Given the description of an element on the screen output the (x, y) to click on. 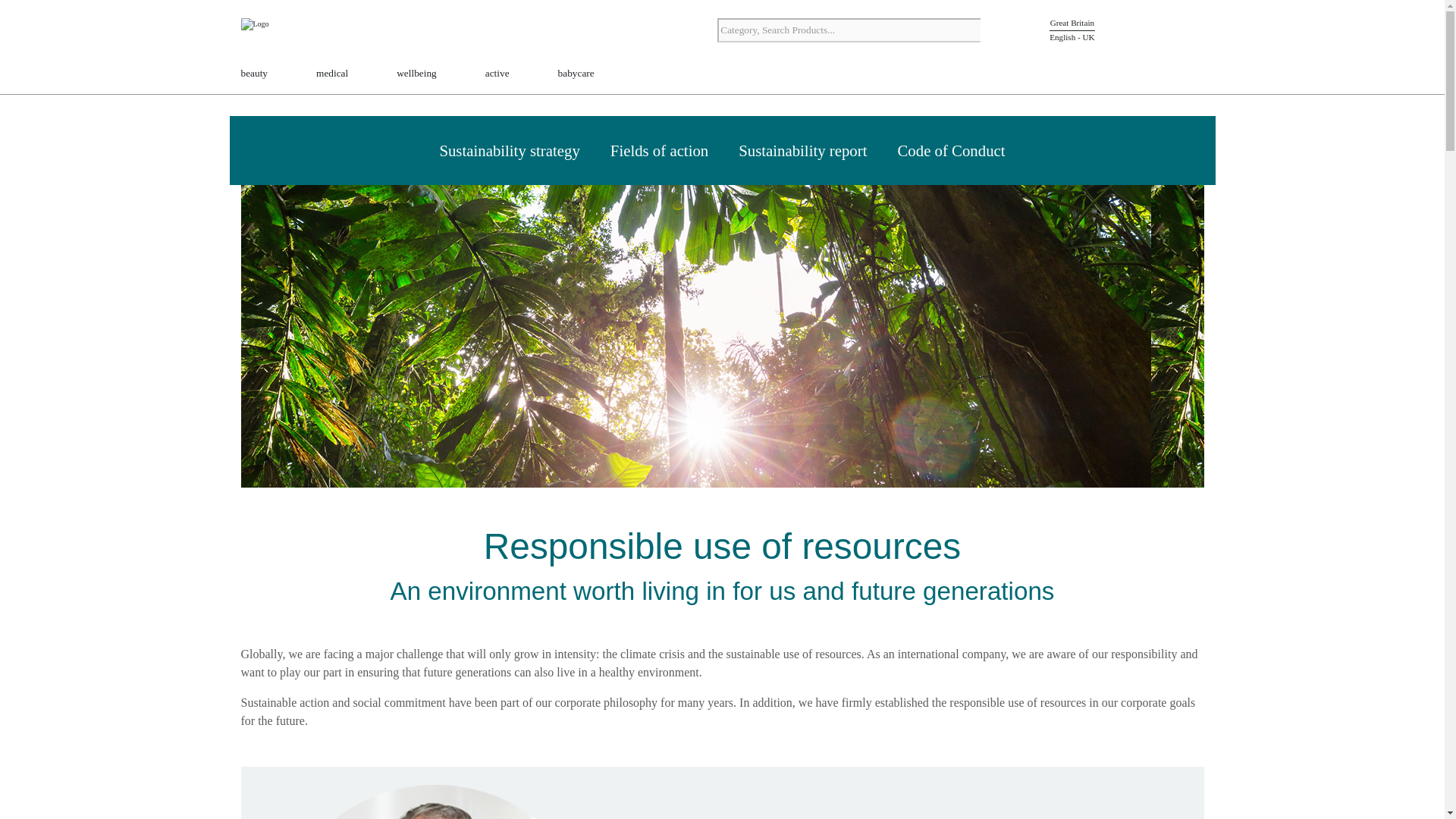
Logo (287, 31)
babycare (575, 73)
active (496, 73)
medical (331, 73)
beauty (254, 73)
wellbeing (416, 73)
beauty (254, 73)
